Given the description of an element on the screen output the (x, y) to click on. 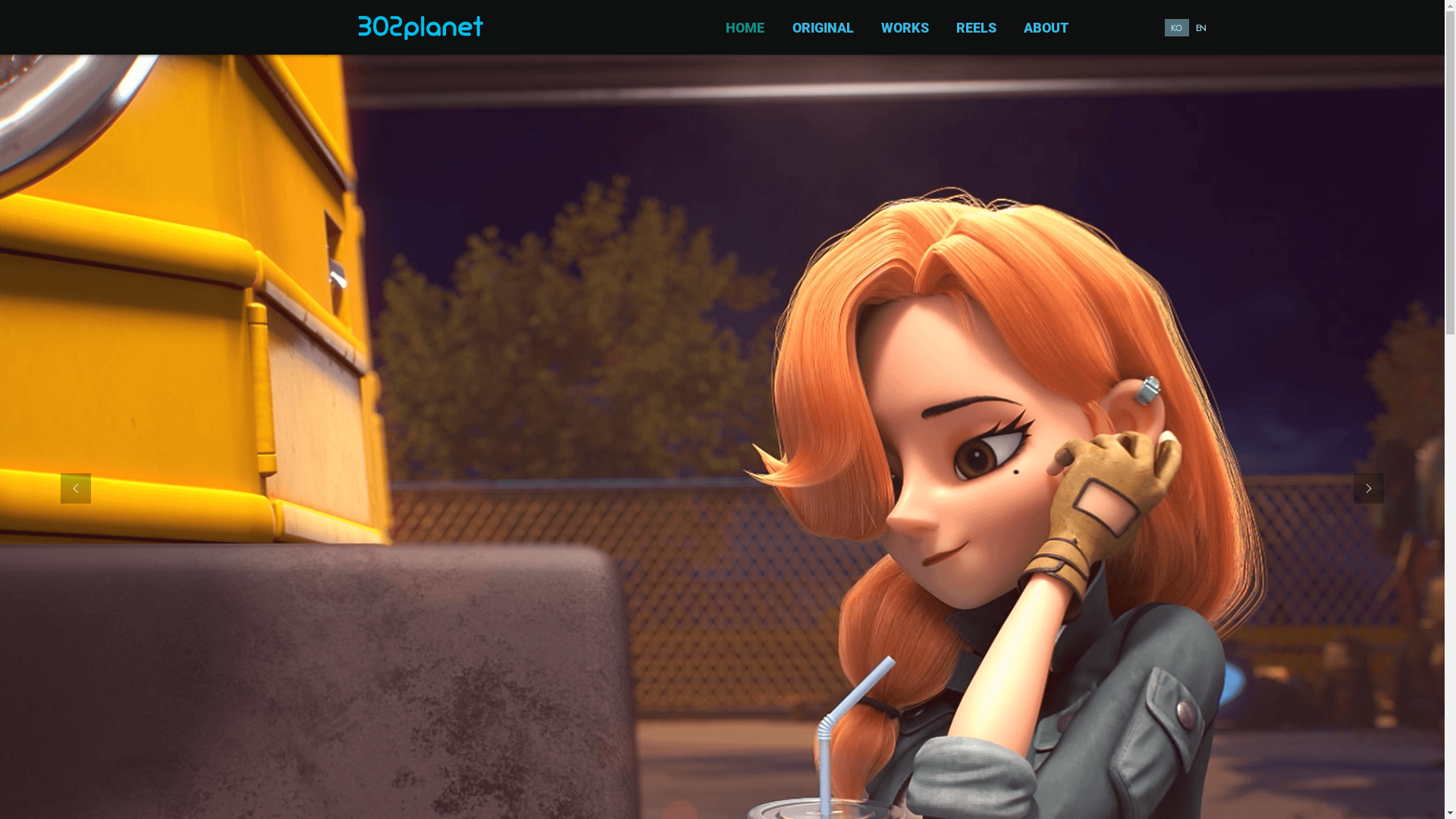
HOME Element type: text (741, 27)
KO Element type: text (1176, 27)
EN Element type: text (1200, 27)
ABOUT Element type: text (1043, 27)
REELS Element type: text (973, 27)
WORKS Element type: text (901, 27)
